Given the description of an element on the screen output the (x, y) to click on. 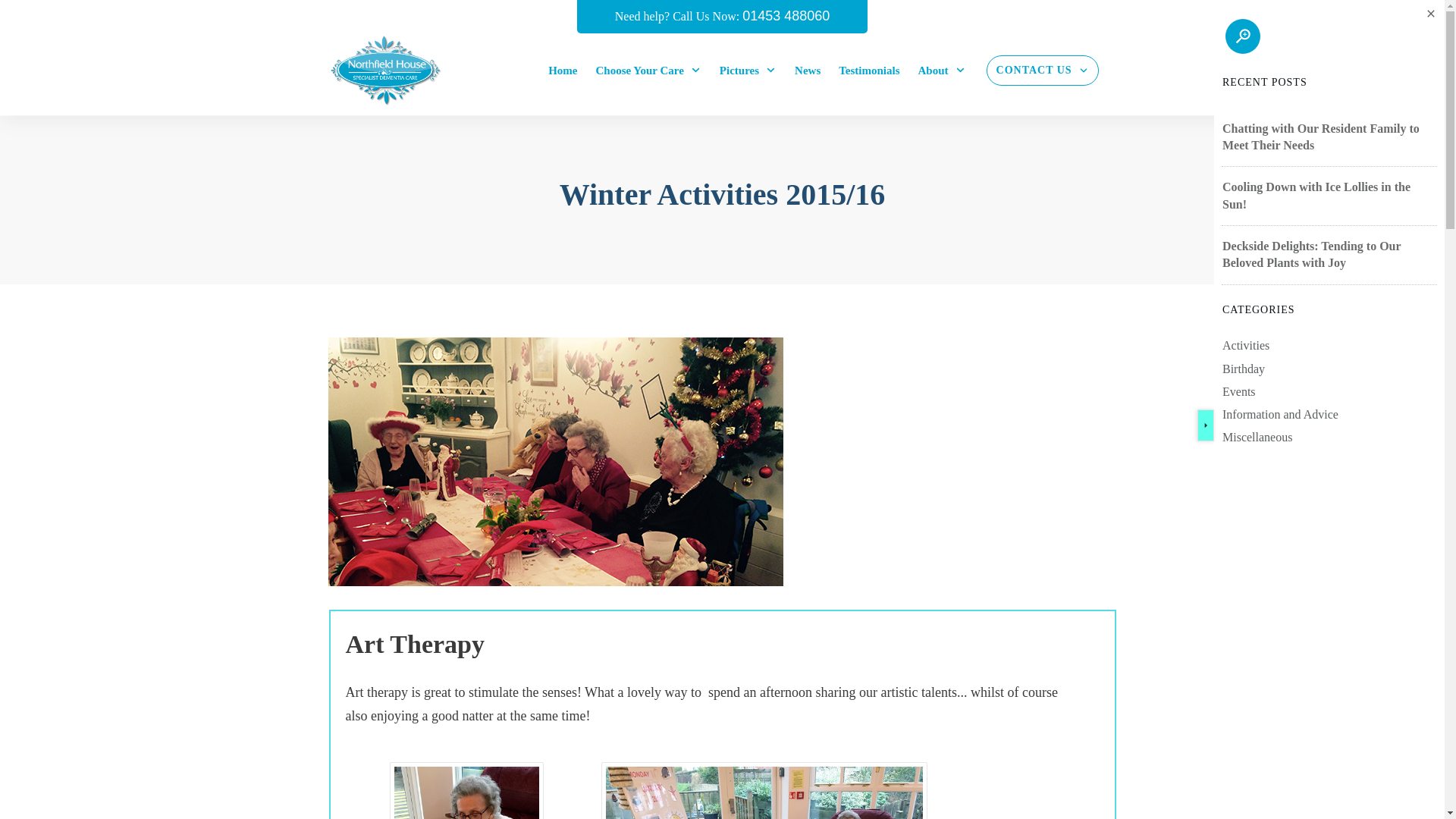
About (942, 69)
Chatting with Our Resident Family to Meet Their Needs (1321, 135)
Choose Your Care (647, 69)
Pictures (747, 69)
Deckside Delights: Tending to Our Beloved Plants with Joy (1311, 254)
Painting (466, 792)
Testimonials (868, 69)
Painting (764, 792)
Cooling Down with Ice Lollies in the Sun! (1316, 194)
News (807, 69)
01453 488060 (785, 15)
Home (562, 69)
CONTACT US (1042, 70)
